Given the description of an element on the screen output the (x, y) to click on. 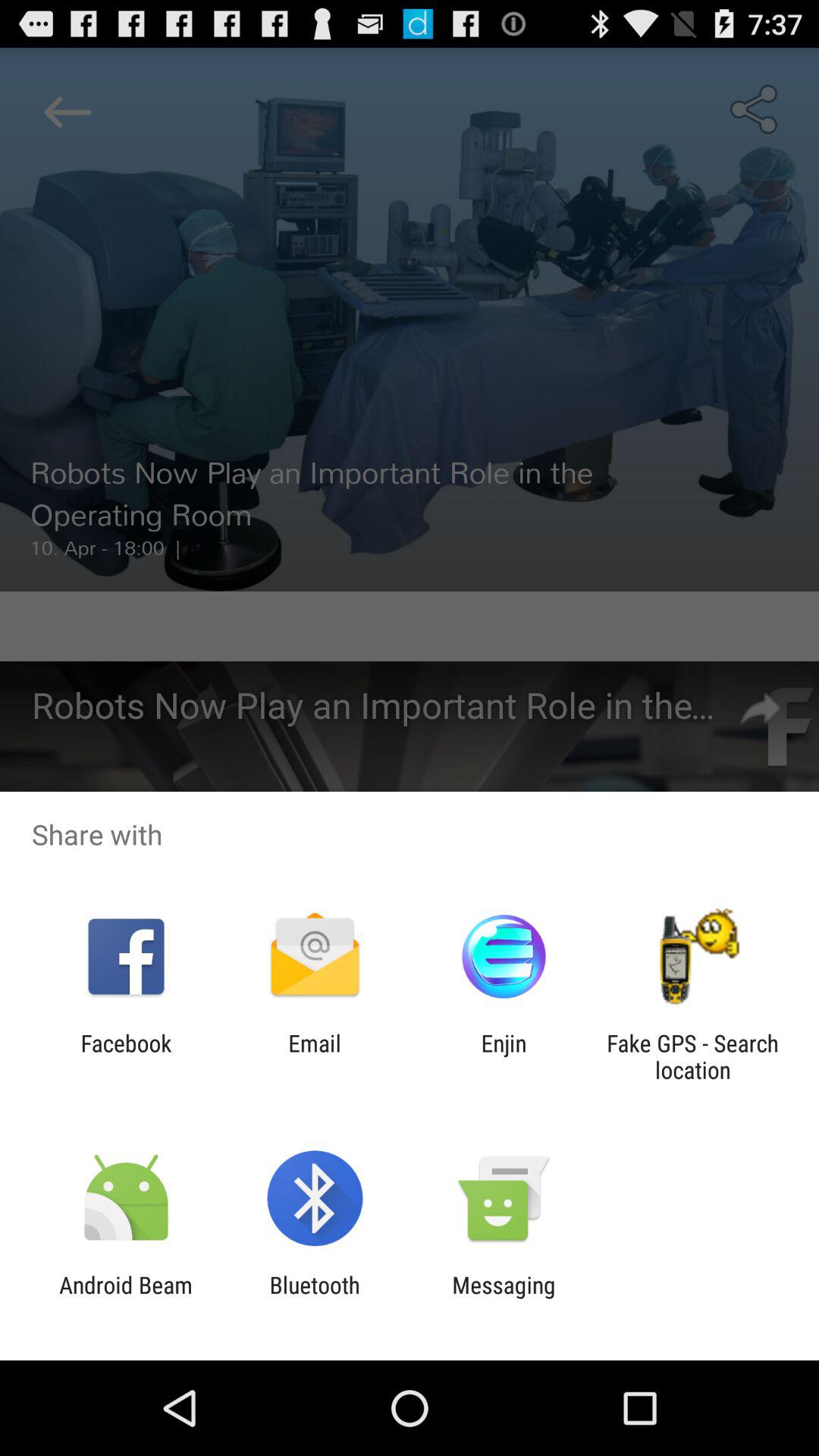
turn off facebook (125, 1056)
